Given the description of an element on the screen output the (x, y) to click on. 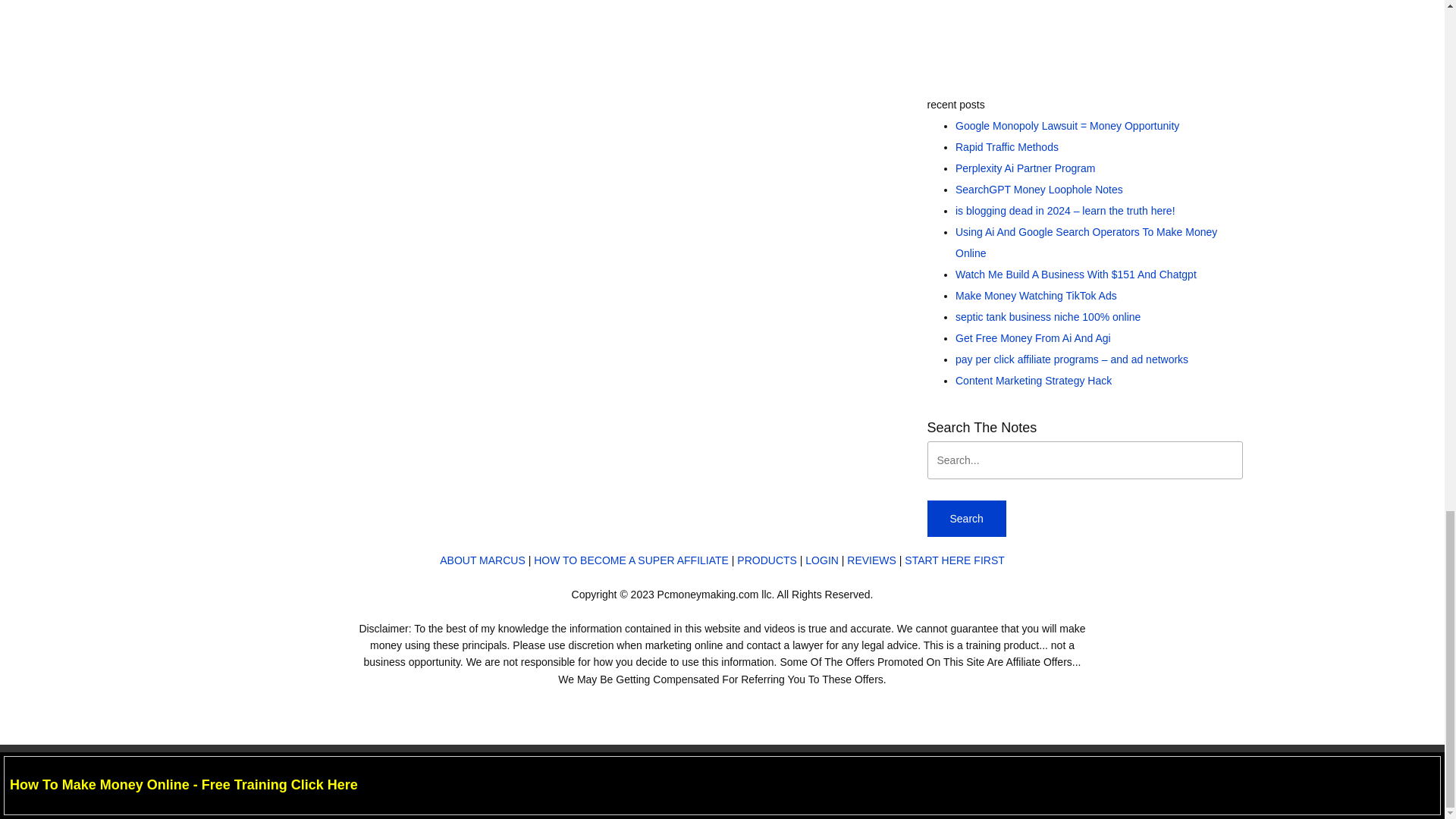
HOW TO BECOME A SUPER AFFILIATE (631, 560)
Search (966, 518)
Rapid Traffic Methods (1006, 146)
SimpleBlogTheme (775, 781)
START HERE FIRST (954, 560)
Content Marketing Strategy Hack (1033, 380)
Make Money Watching TikTok Ads (1035, 295)
ABOUT MARCUS (482, 560)
LOGIN (821, 560)
SearchGPT Money Loophole Notes (1038, 189)
